Given the description of an element on the screen output the (x, y) to click on. 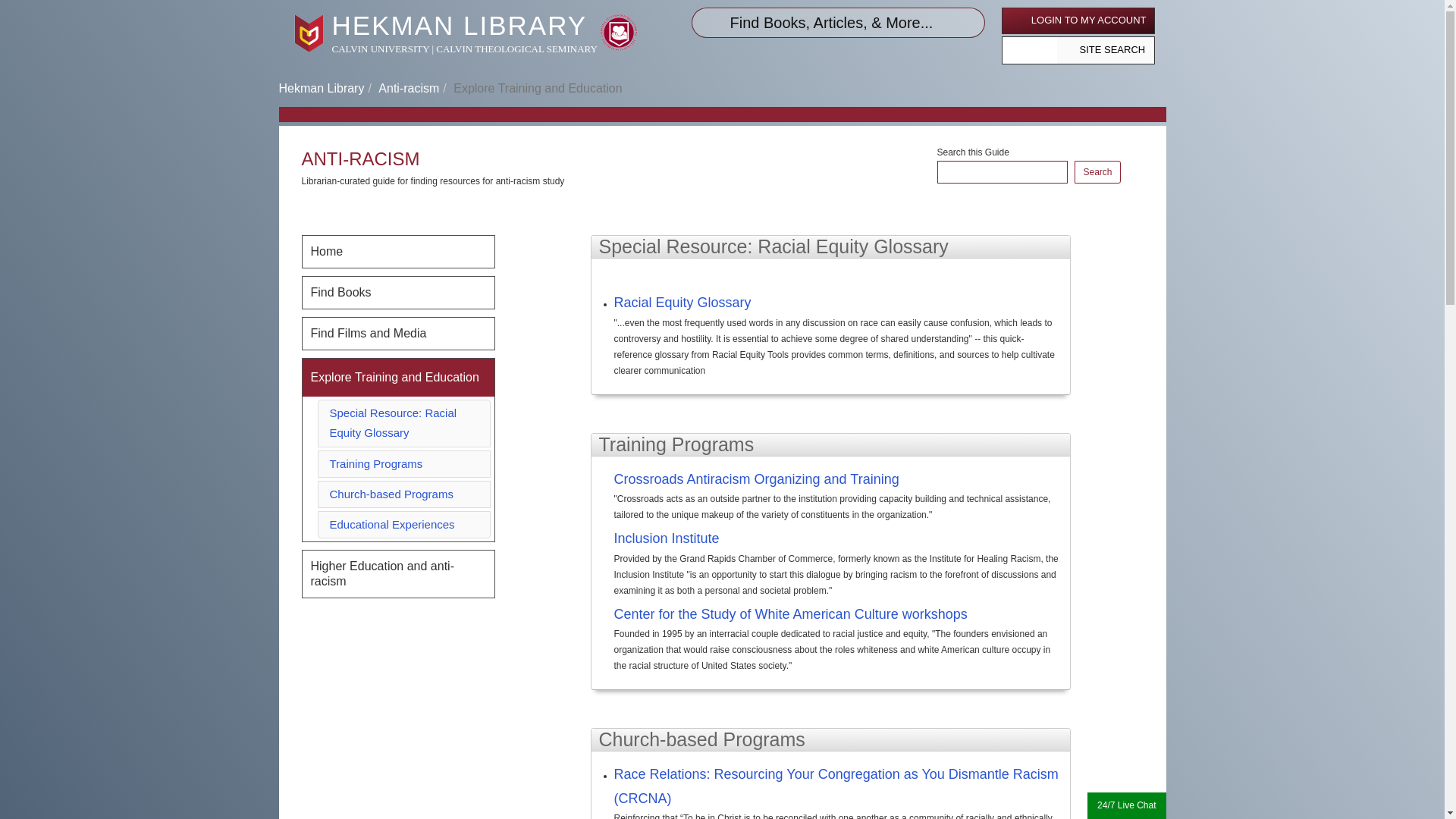
Inclusion Institute (838, 539)
Higher Education and anti-racism (397, 573)
HEKMAN LIBRARY (459, 25)
Explore Training and Education (397, 377)
Racial Equity Glossary (682, 302)
LOGIN TO MY ACCOUNT (1077, 20)
Anti-racism (408, 88)
Find Films and Media (397, 333)
Educational Experiences (391, 523)
Opportunities for training and further education. (397, 377)
Special Resource: Racial Equity Glossary (393, 422)
Find Books (397, 292)
Training Programs (375, 463)
